Given the description of an element on the screen output the (x, y) to click on. 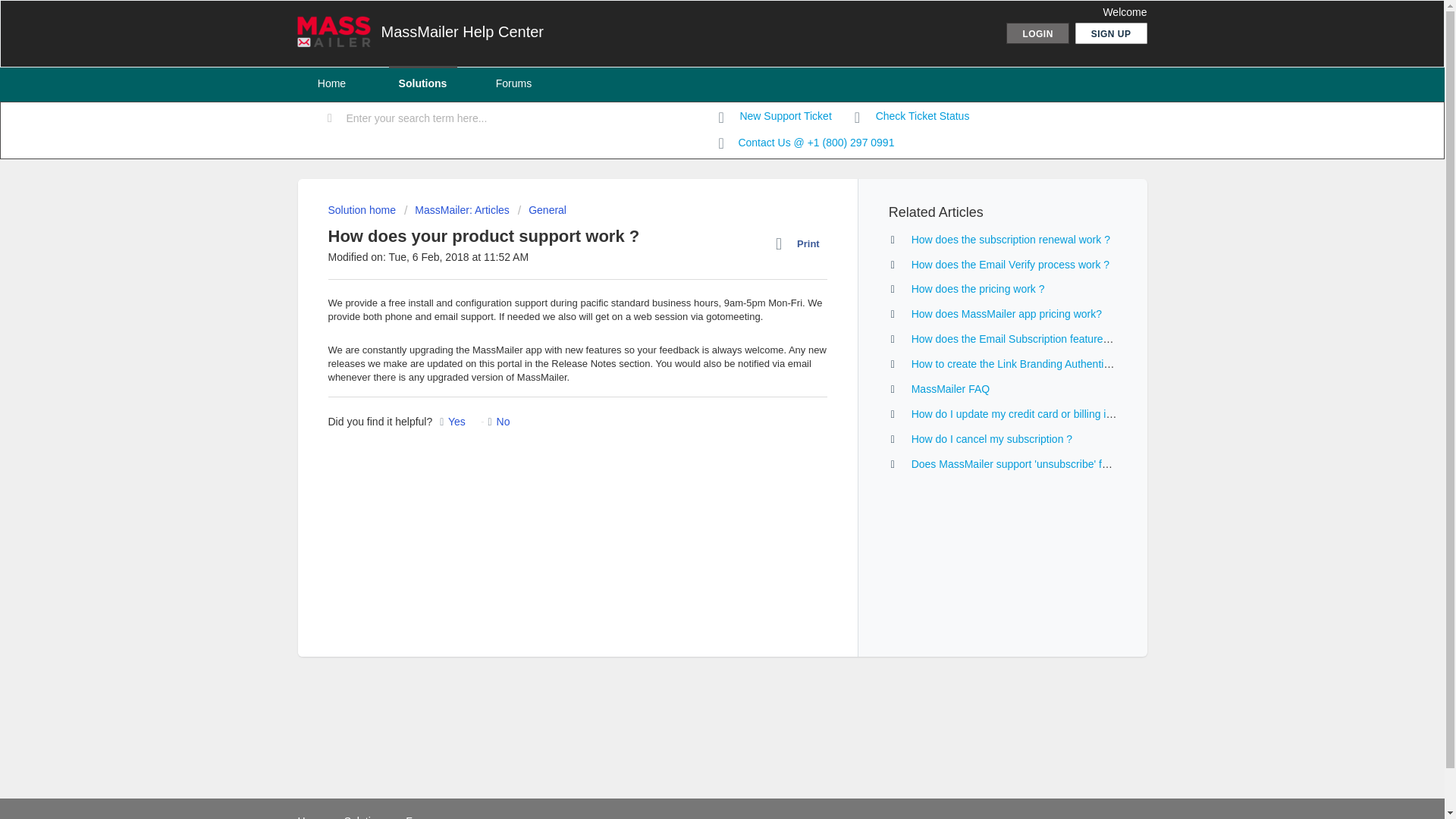
Print this Article (801, 243)
How does the Email Verify process work ? (1010, 264)
How does MassMailer app pricing work? (1006, 313)
How does the pricing work ? (978, 288)
New Support Ticket (775, 116)
How do I cancel my subscription ? (991, 439)
Solution home (362, 209)
Solutions (365, 816)
SIGN UP (1111, 33)
Check ticket status (911, 116)
Solutions (422, 83)
MassMailer FAQ (950, 388)
LOGIN (1037, 33)
General (542, 209)
